Given the description of an element on the screen output the (x, y) to click on. 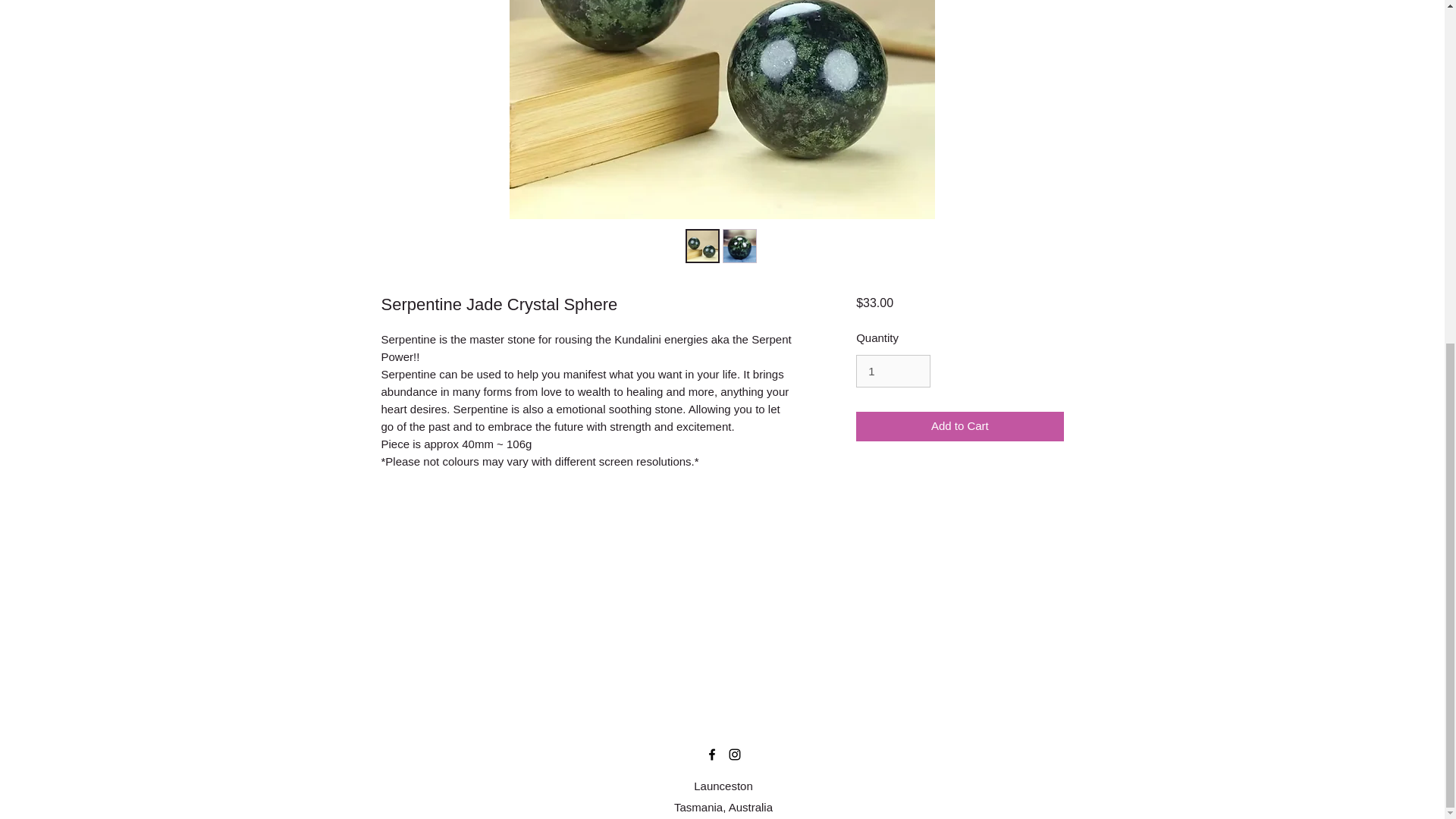
1 (893, 371)
Add to Cart (959, 426)
